Given the description of an element on the screen output the (x, y) to click on. 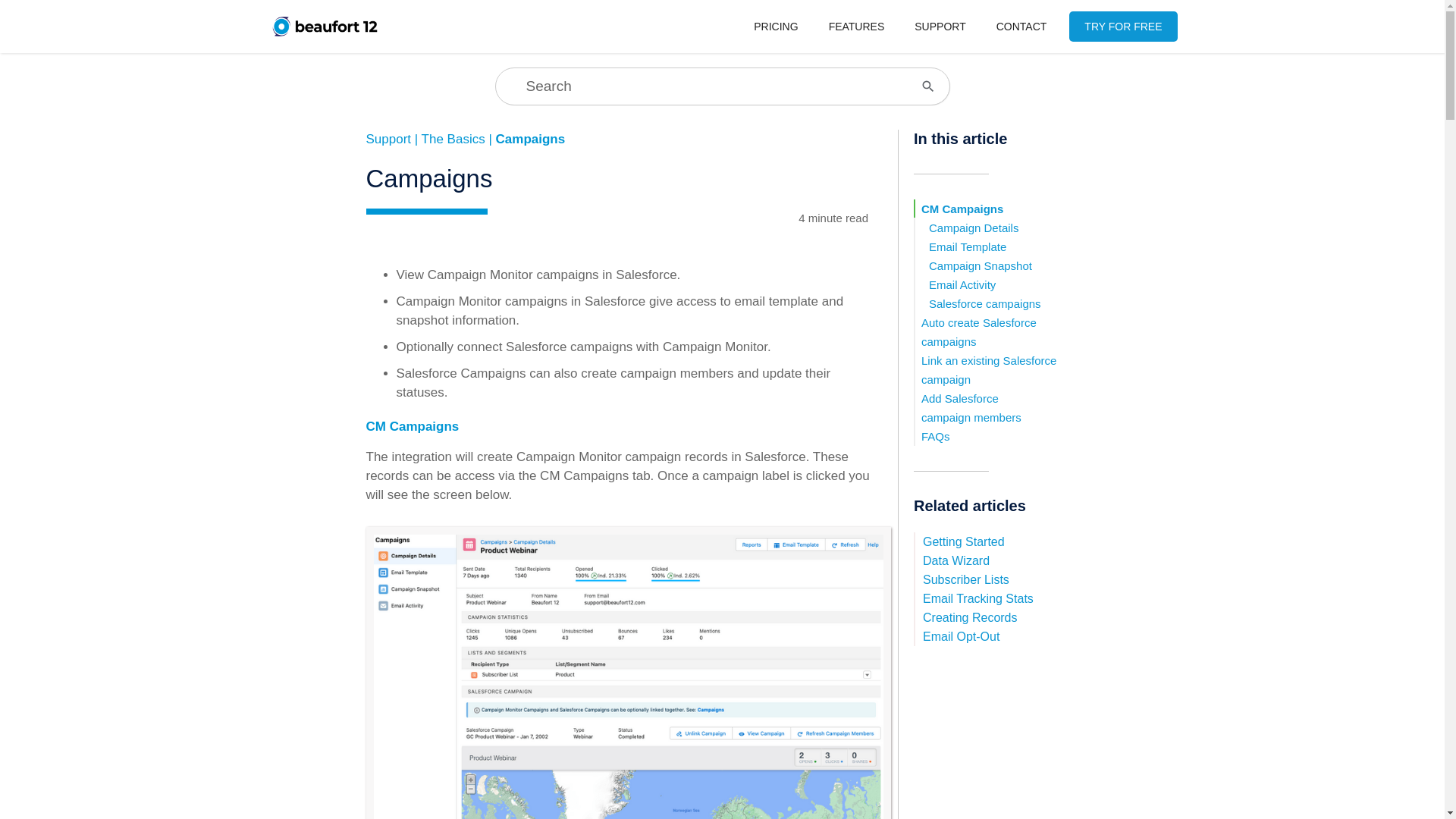
Auto create Salesforce campaigns (978, 332)
Email Activity (961, 284)
PRICING (775, 26)
CONTACT (1021, 26)
Email Template (967, 246)
SEARCH (9, 9)
Campaign Details (972, 227)
FEATURES (856, 26)
TRY FOR FREE (1122, 26)
Campaign Snapshot (980, 265)
Salesforce campaigns (984, 303)
CM Campaigns (962, 208)
SUPPORT (939, 26)
